Given the description of an element on the screen output the (x, y) to click on. 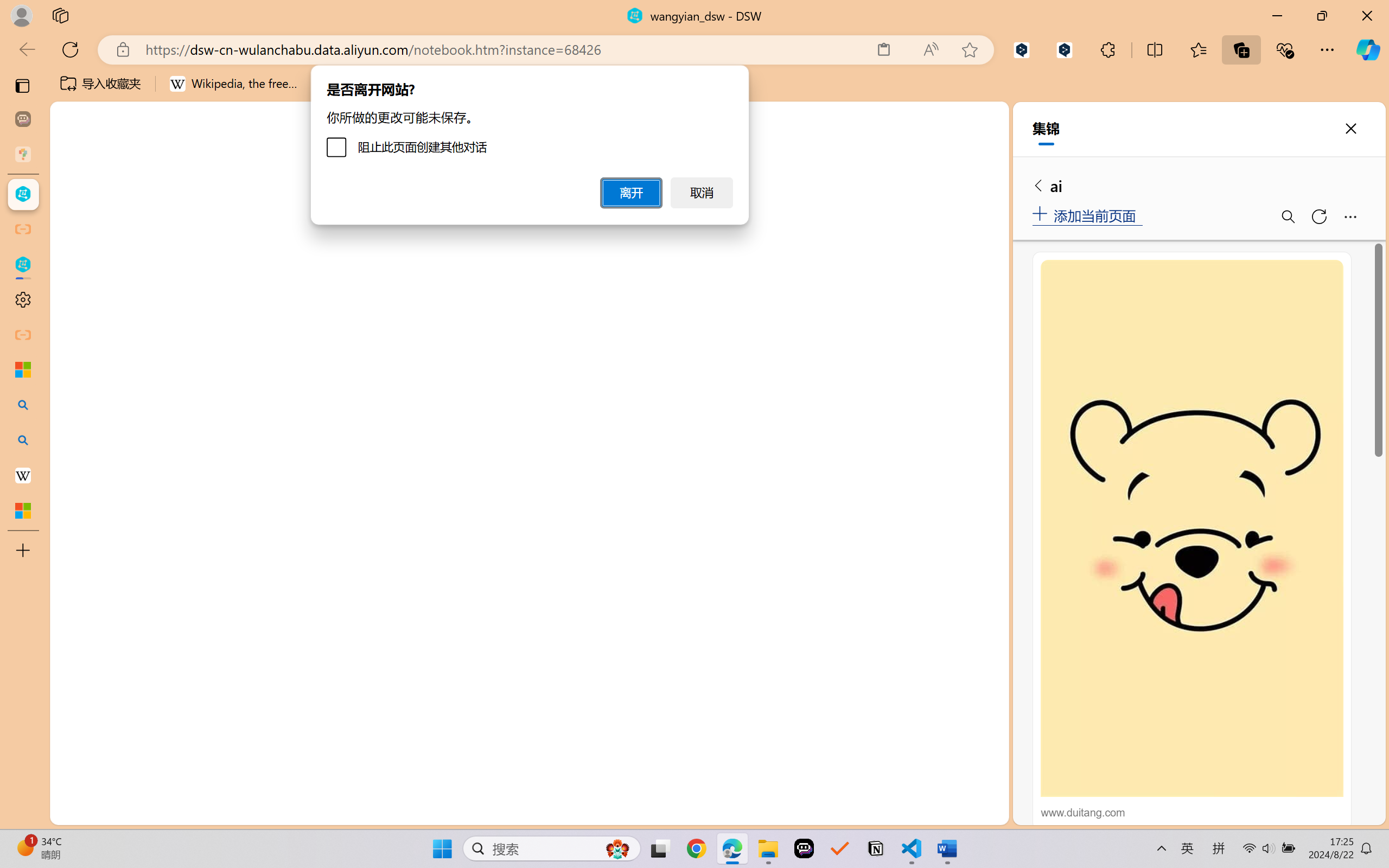
Google Chrome (696, 848)
Title actions (957, 159)
wangyian_webcrawler - DSW (22, 264)
Class: xterm-decoration-overview-ruler (885, 508)
Views and More Actions... (934, 193)
